Given the description of an element on the screen output the (x, y) to click on. 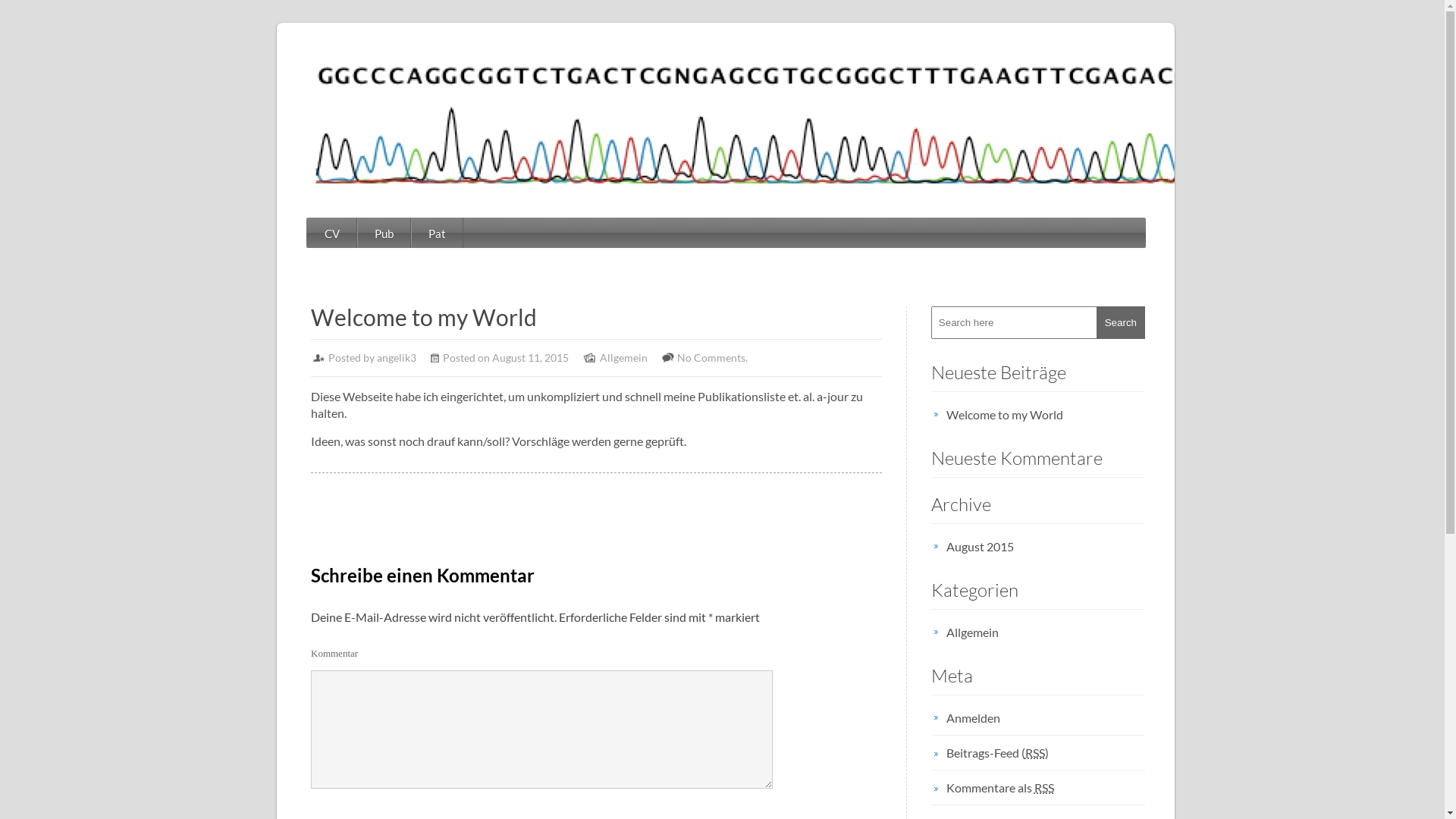
CV Element type: text (331, 233)
Beitrags-Feed (RSS) Element type: text (1045, 752)
Allgemein Element type: text (623, 357)
Kommentare als RSS Element type: text (1045, 787)
Pub Element type: text (383, 233)
Welcome to my World Element type: text (1045, 414)
Search Element type: text (1120, 322)
August 2015 Element type: text (1045, 546)
Anmelden Element type: text (1045, 717)
Pat Element type: text (436, 233)
Allgemein Element type: text (1045, 631)
No Comments. Element type: text (712, 357)
